Given the description of an element on the screen output the (x, y) to click on. 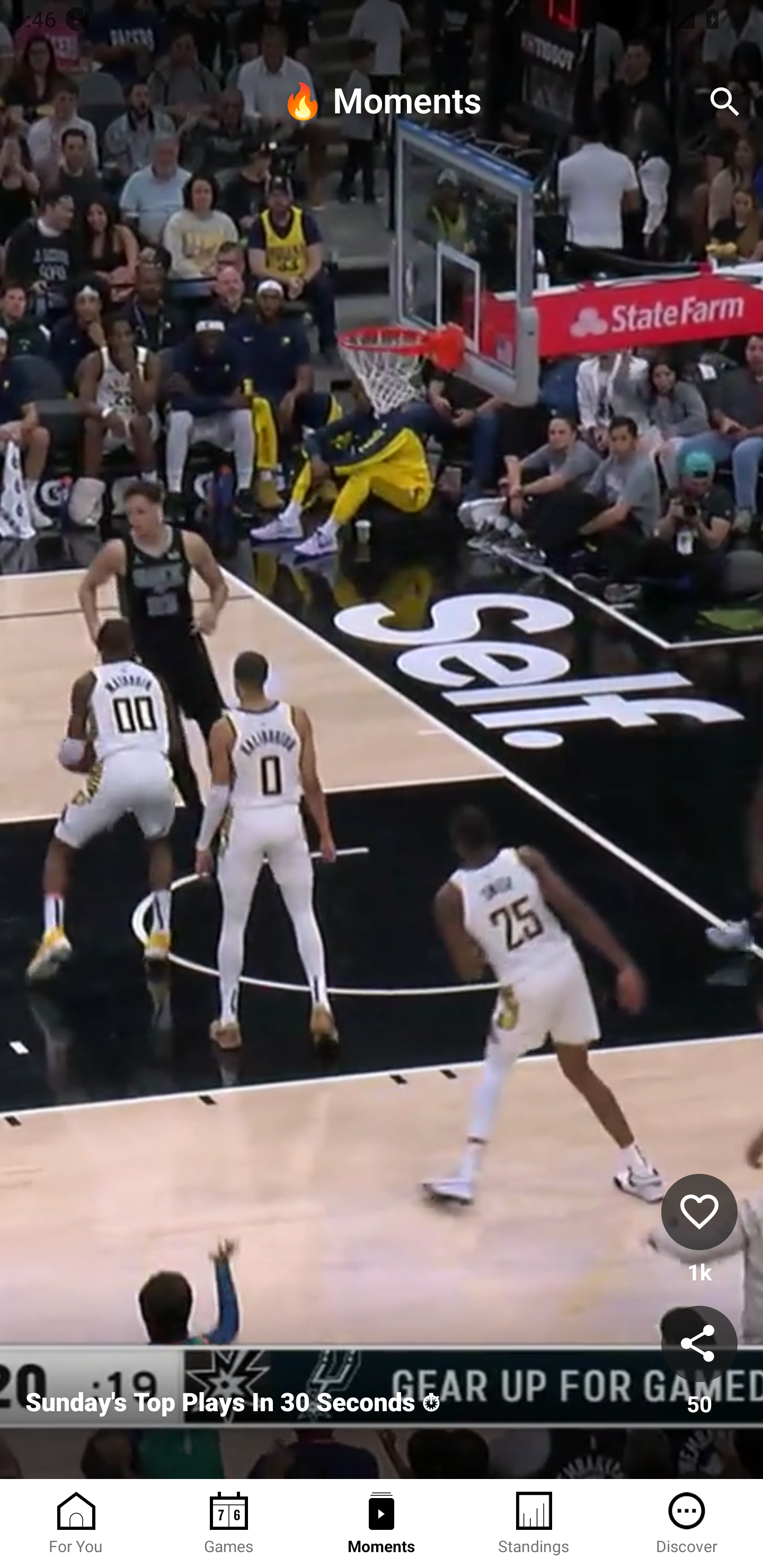
search (724, 101)
like 1k 1043 Likes (699, 1230)
share 50 50 Shares (699, 1362)
For You (76, 1523)
Games (228, 1523)
Standings (533, 1523)
Discover (686, 1523)
